Given the description of an element on the screen output the (x, y) to click on. 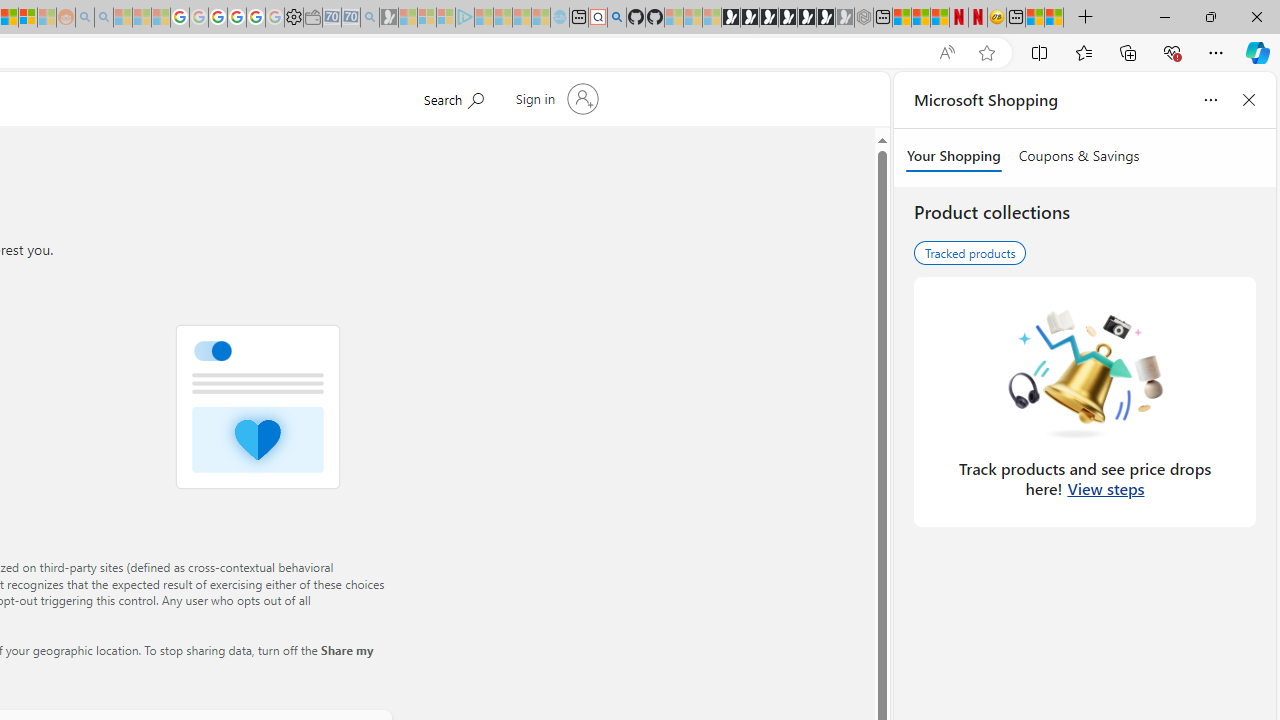
github - Search (616, 17)
